Given the description of an element on the screen output the (x, y) to click on. 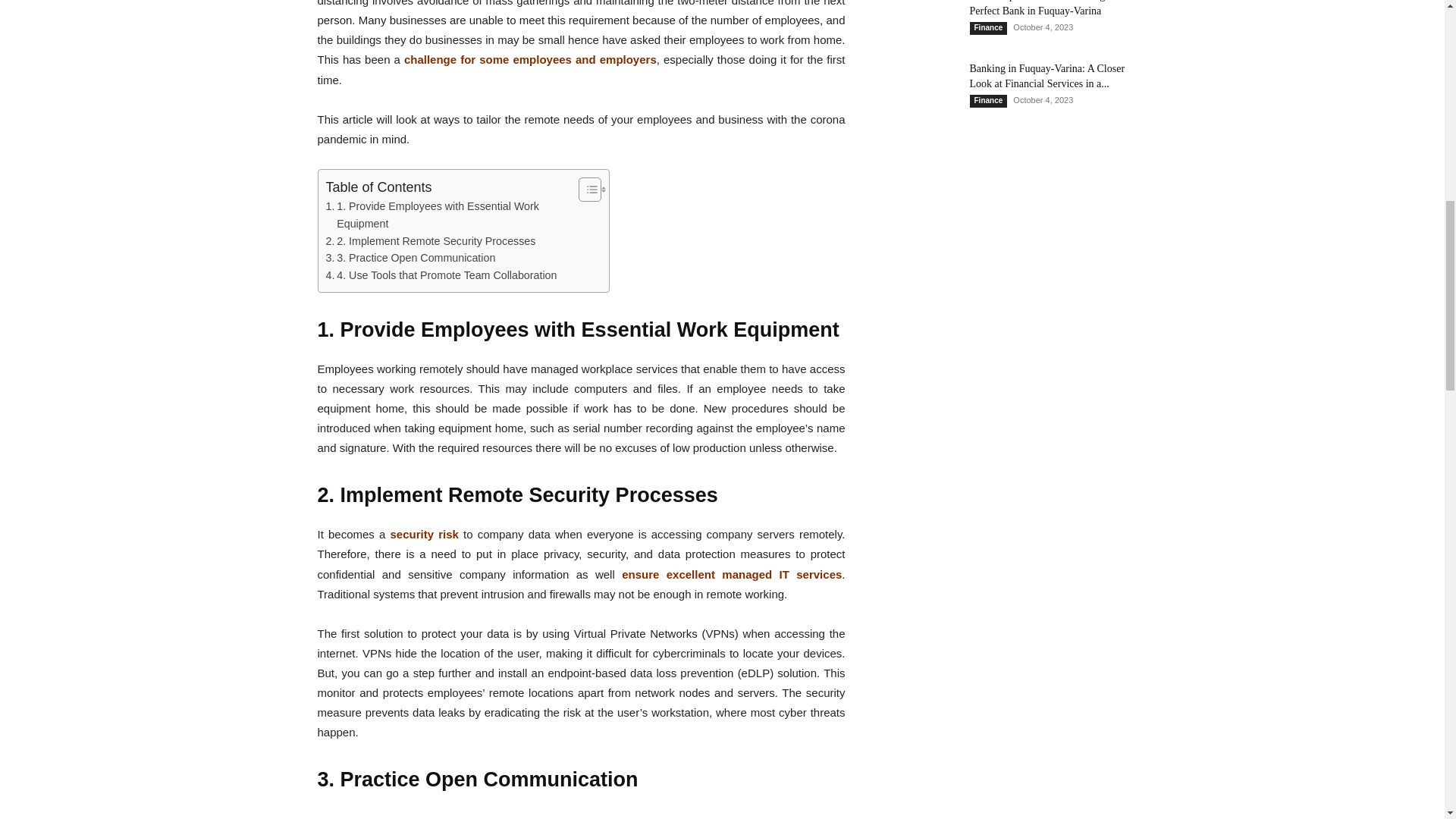
2. Implement Remote Security Processes (430, 241)
1. Provide Employees with Essential Work Equipment (448, 215)
challenge for some employees and employers (530, 59)
3. Practice Open Communication (411, 257)
4. Use Tools that Promote Team Collaboration (441, 275)
